Given the description of an element on the screen output the (x, y) to click on. 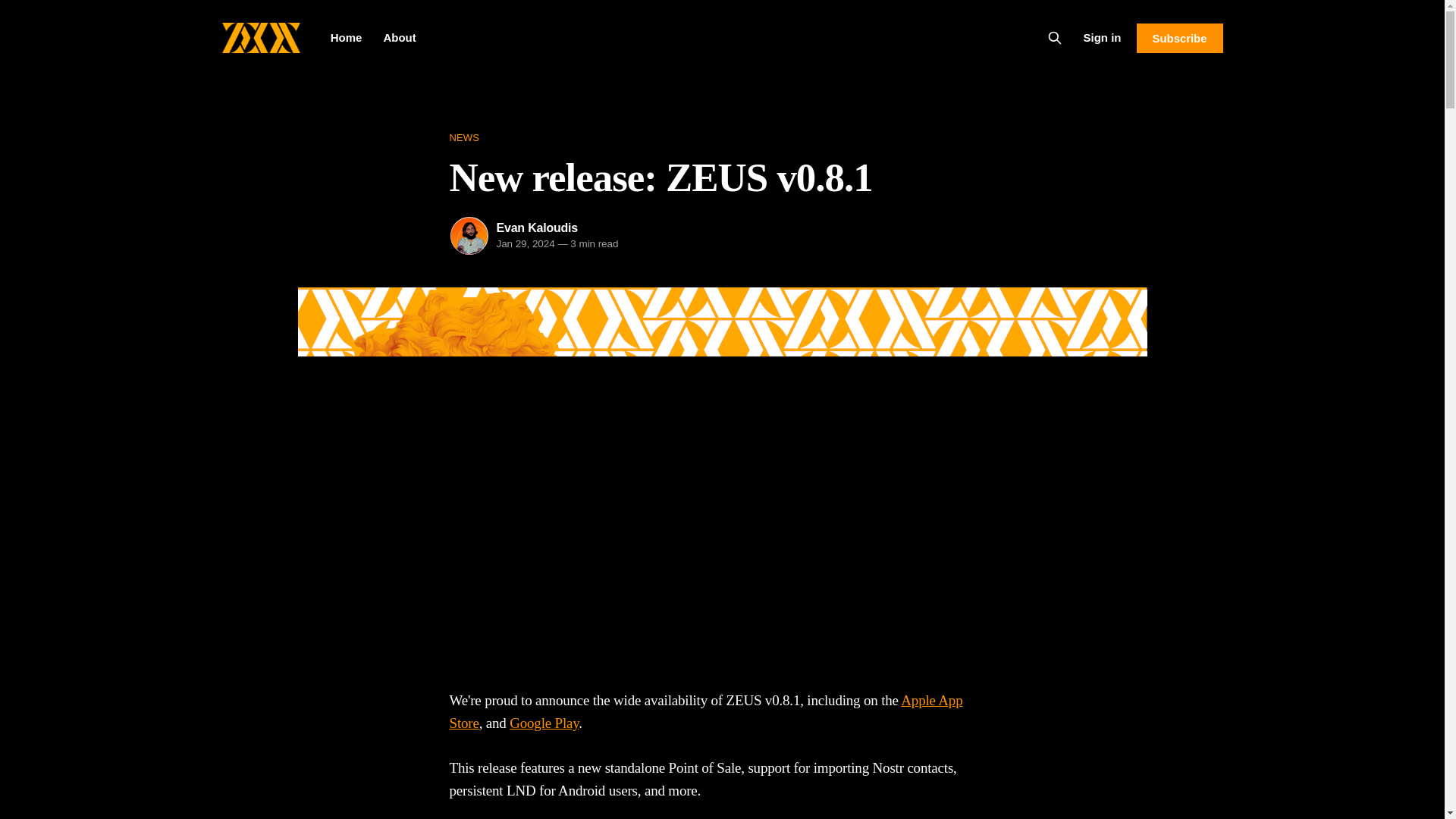
Google Play (543, 722)
Subscribe (1179, 37)
About (398, 37)
Apple App Store (705, 711)
Home (346, 37)
Sign in (1102, 37)
NEWS (721, 138)
Evan Kaloudis (537, 227)
